Given the description of an element on the screen output the (x, y) to click on. 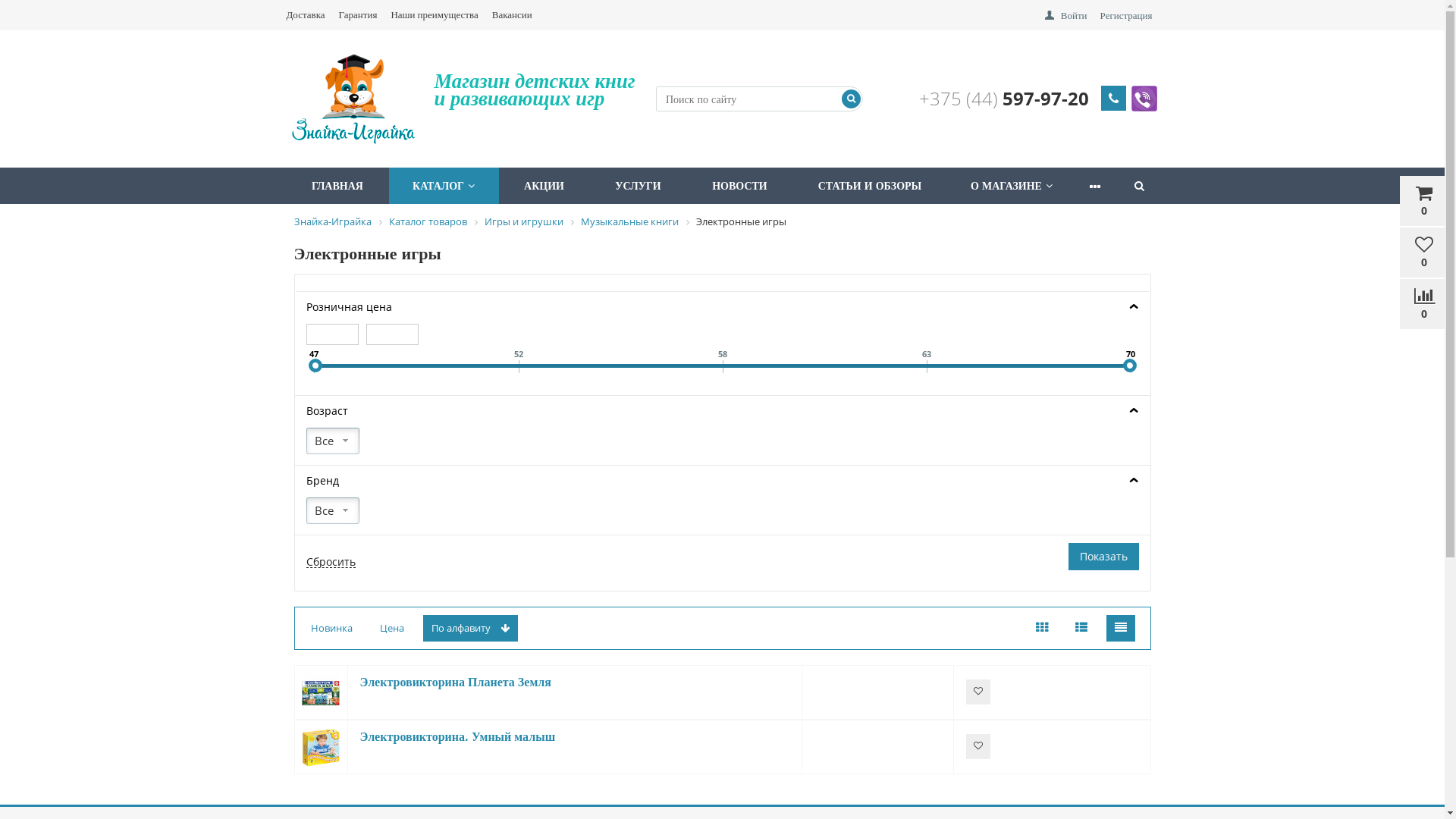
0 Element type: text (1423, 252)
0 Element type: text (1423, 200)
0 Element type: text (1423, 303)
